Given the description of an element on the screen output the (x, y) to click on. 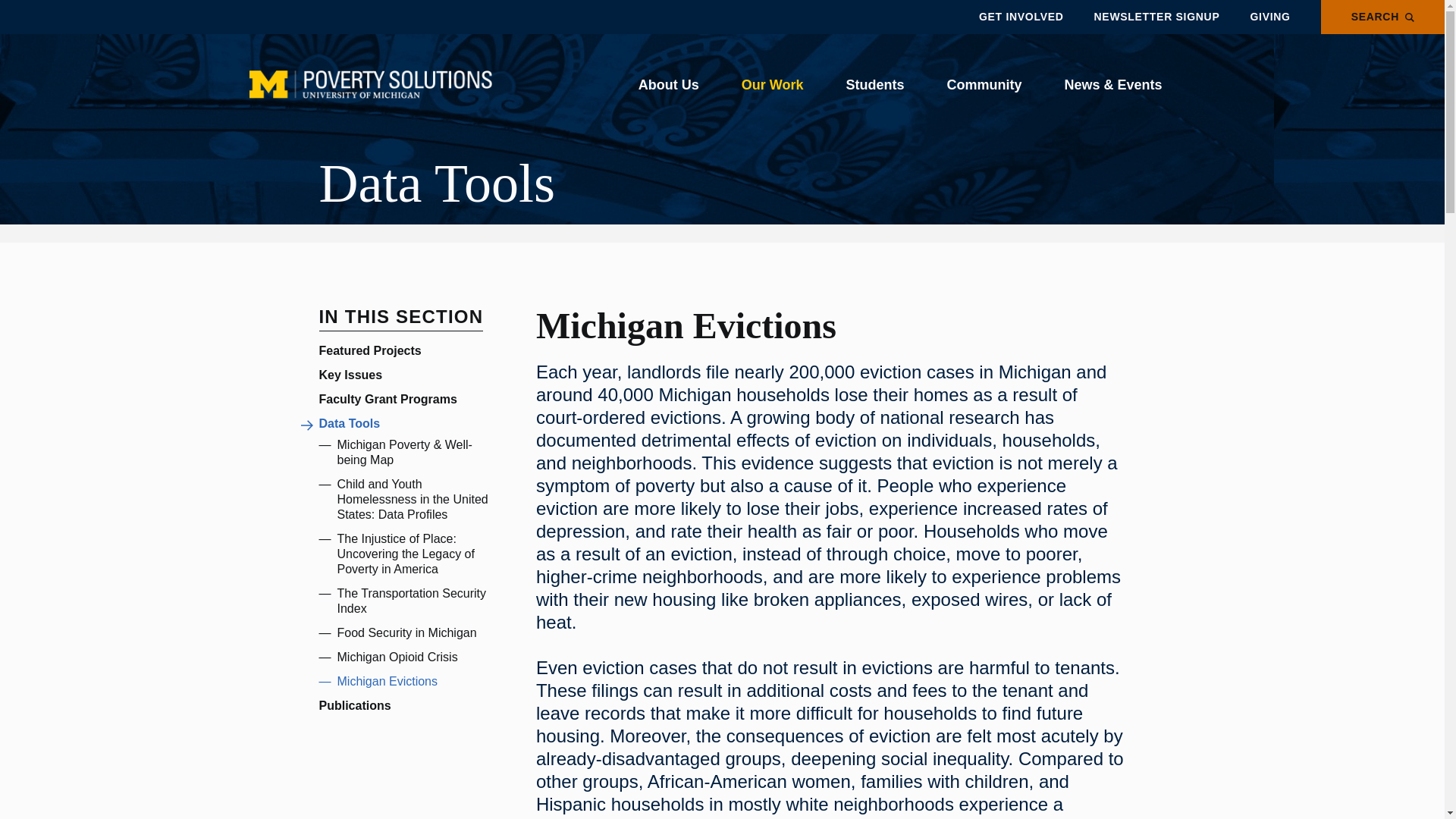
GET INVOLVED (1021, 16)
NEWSLETTER SIGNUP (1157, 16)
GIVING (1269, 16)
Students (873, 85)
Community (983, 85)
About Us (667, 85)
Our Work (772, 85)
